Given the description of an element on the screen output the (x, y) to click on. 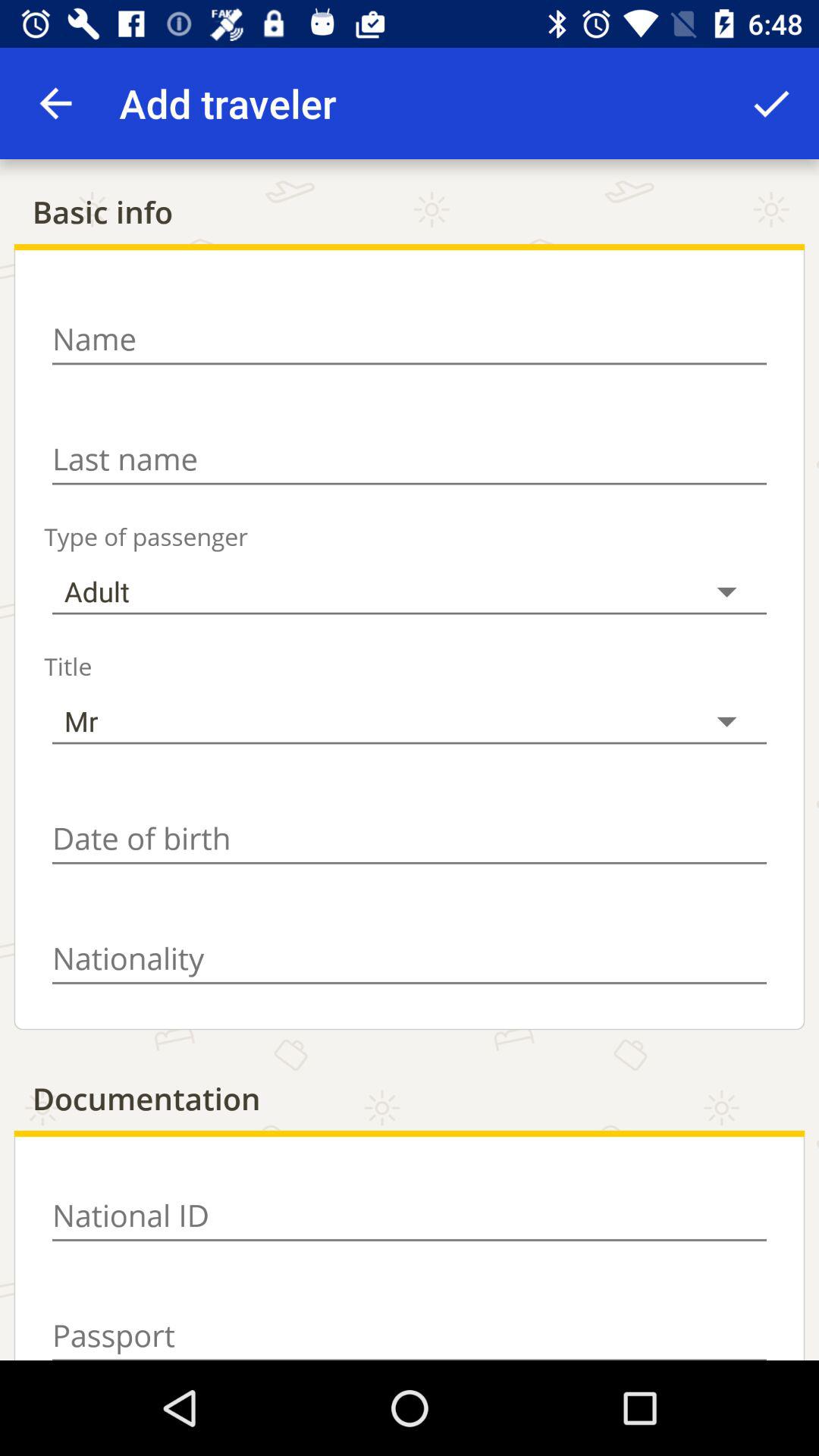
enter name (409, 339)
